Given the description of an element on the screen output the (x, y) to click on. 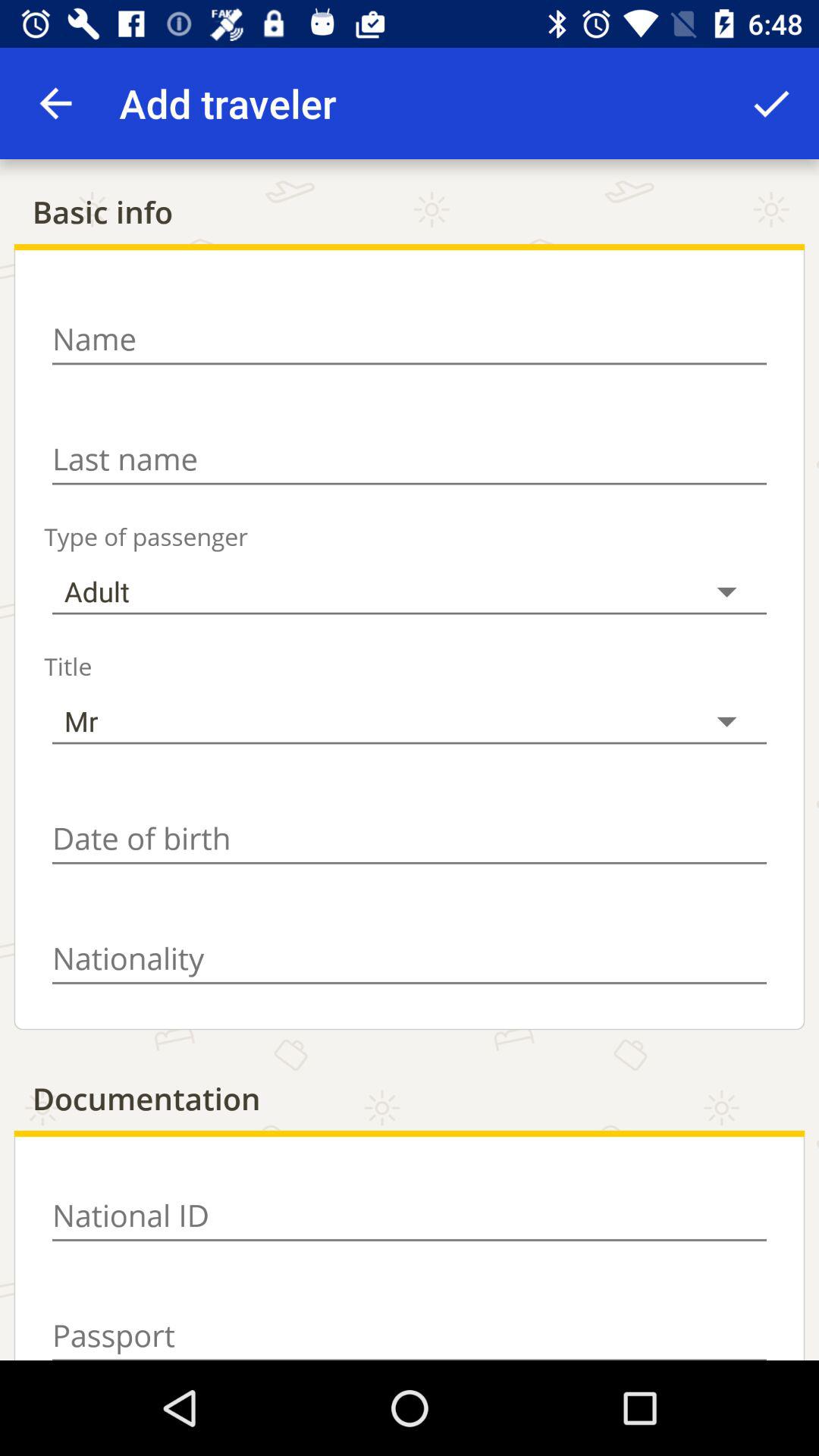
enter name (409, 339)
